Given the description of an element on the screen output the (x, y) to click on. 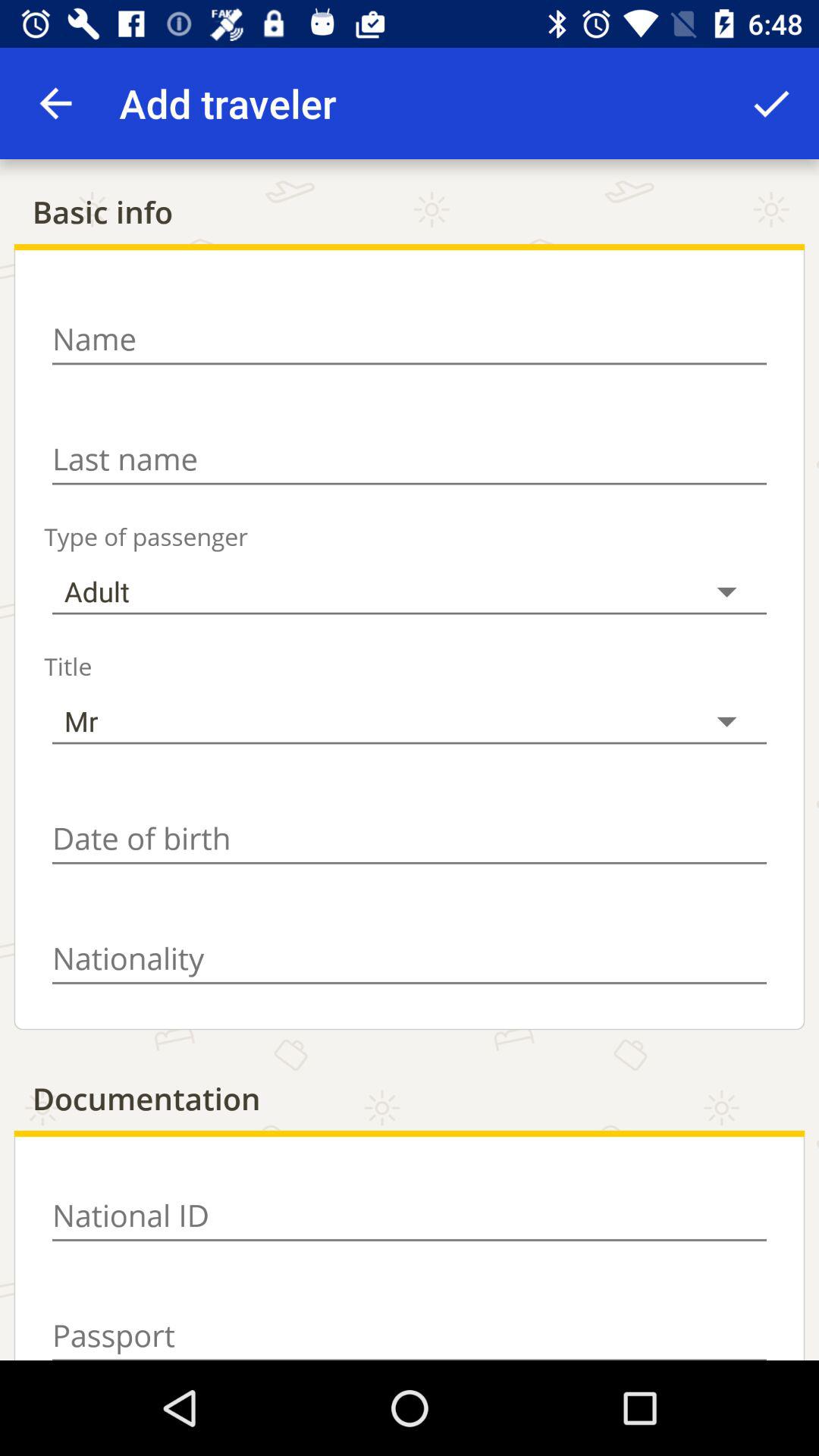
enter name (409, 339)
